Given the description of an element on the screen output the (x, y) to click on. 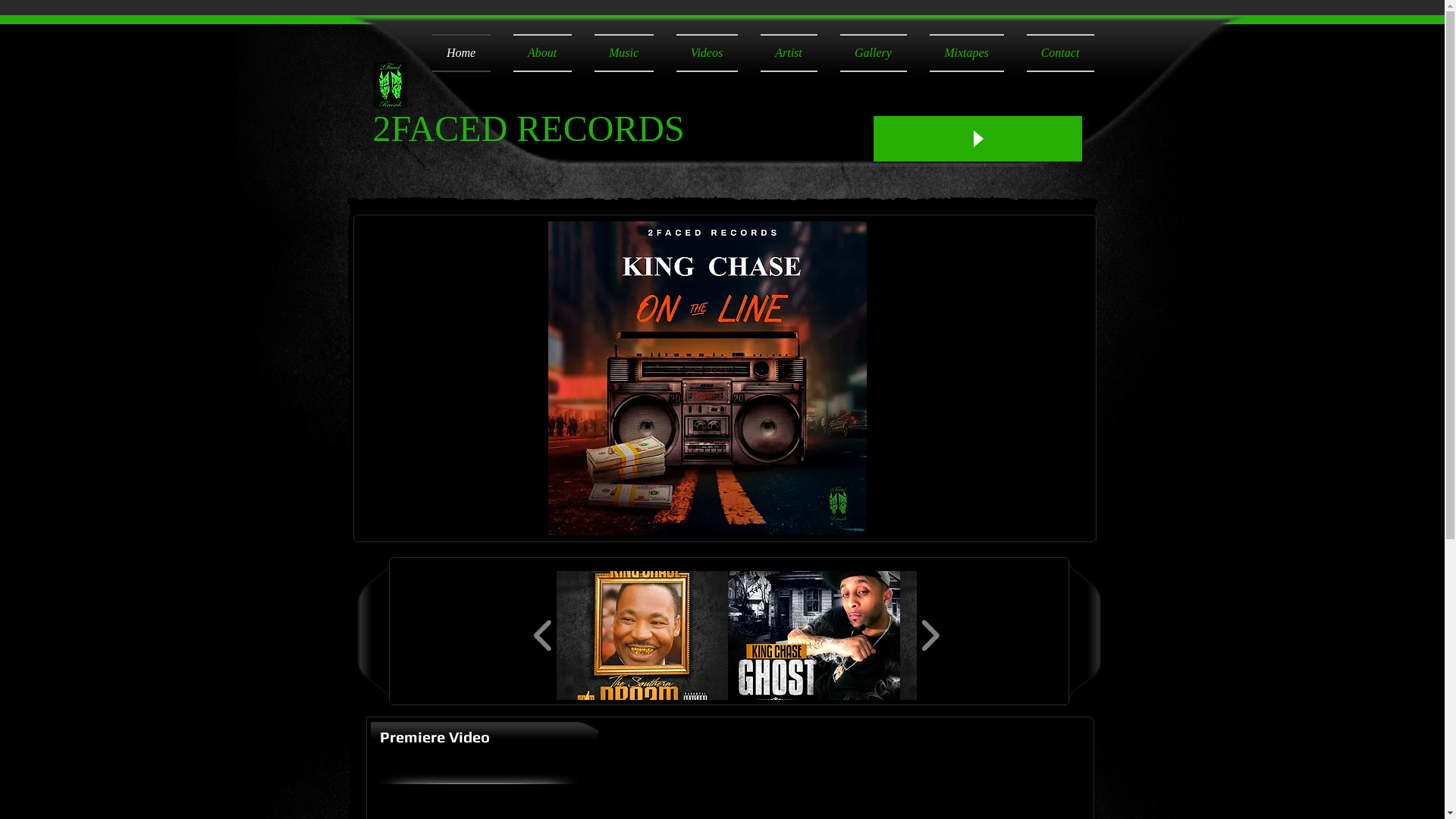
Videos Element type: text (706, 53)
About Element type: text (542, 53)
Home Element type: text (467, 53)
Contact Element type: text (1053, 53)
2FACED+RECORDS.jpg Element type: hover (390, 84)
Music Element type: text (623, 53)
Gallery Element type: text (872, 53)
Mixtapes Element type: text (965, 53)
Artist Element type: text (788, 53)
